Given the description of an element on the screen output the (x, y) to click on. 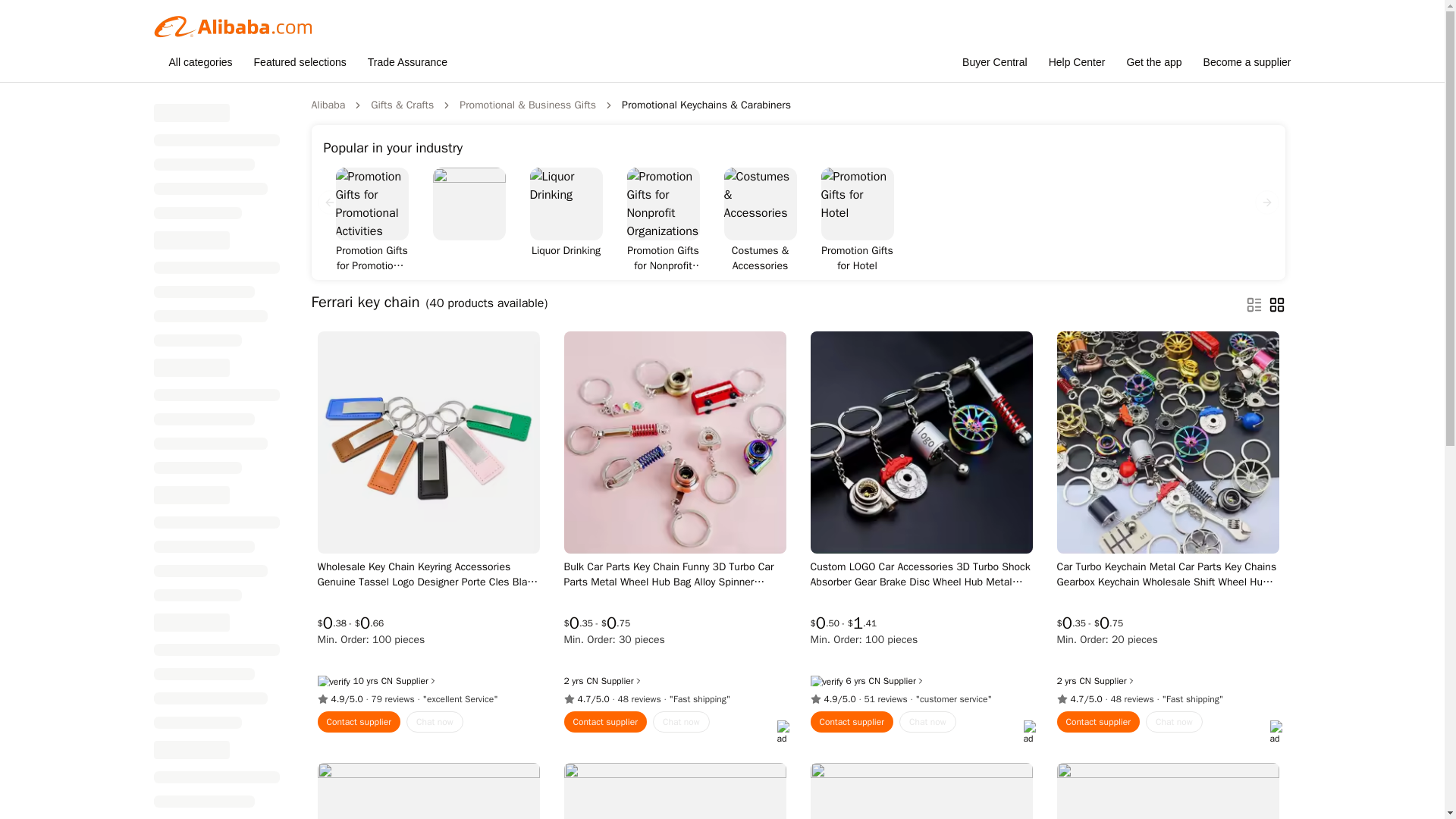
Zhongshan Magic Gift Co., Ltd. (874, 680)
Chat now (434, 721)
Alibaba (328, 105)
Supplier (903, 680)
Supplier (417, 680)
Next slide (1265, 202)
Supplier (622, 680)
Chengdu Lefeng Technology Co., Ltd. (591, 680)
Chengdu Lefeng Technology Co., Ltd. (1084, 680)
Chat now (927, 721)
Contact supplier (358, 721)
Contact supplier (851, 721)
Contact supplier (605, 721)
